Given the description of an element on the screen output the (x, y) to click on. 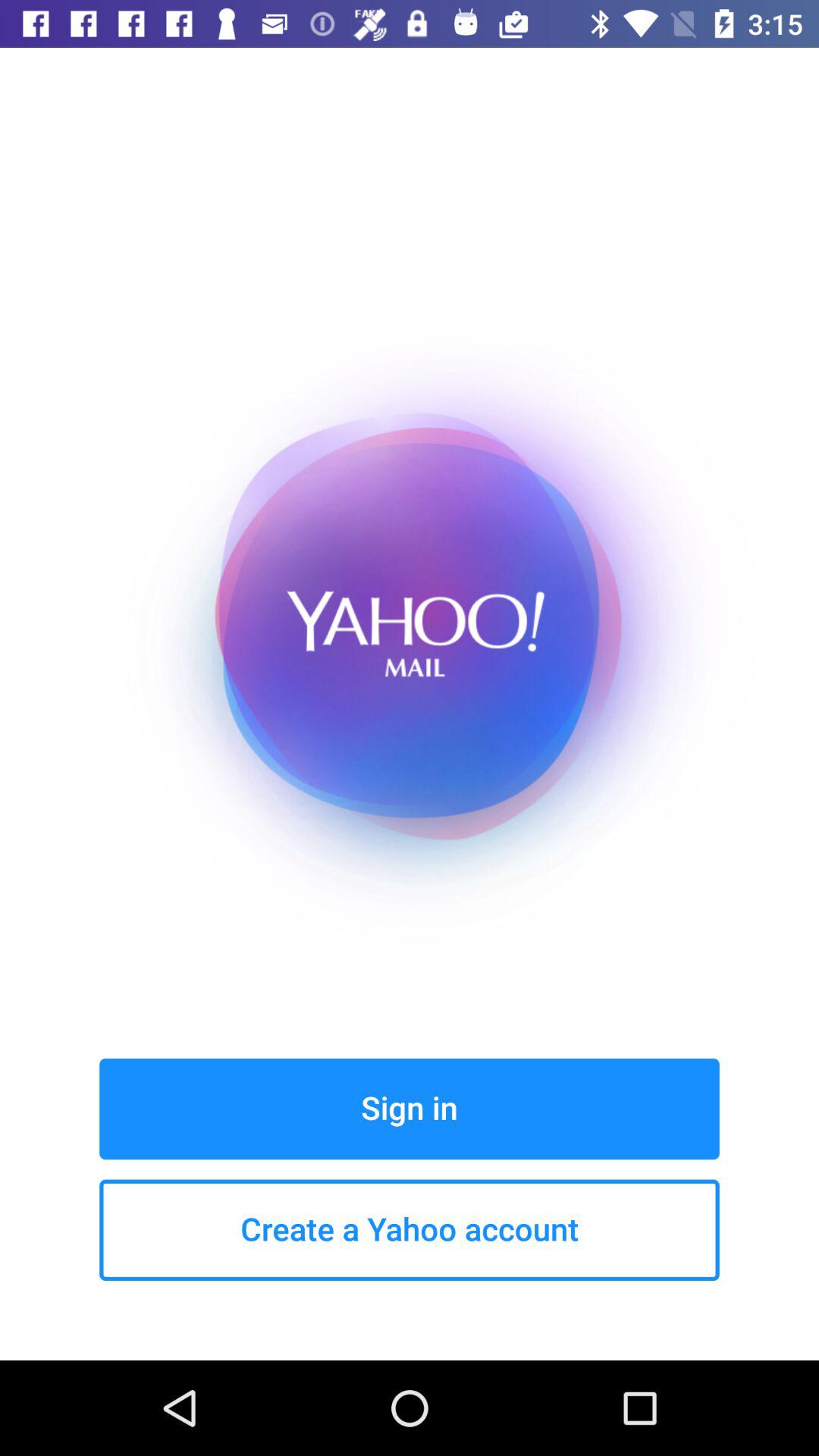
press sign in (409, 1108)
